Given the description of an element on the screen output the (x, y) to click on. 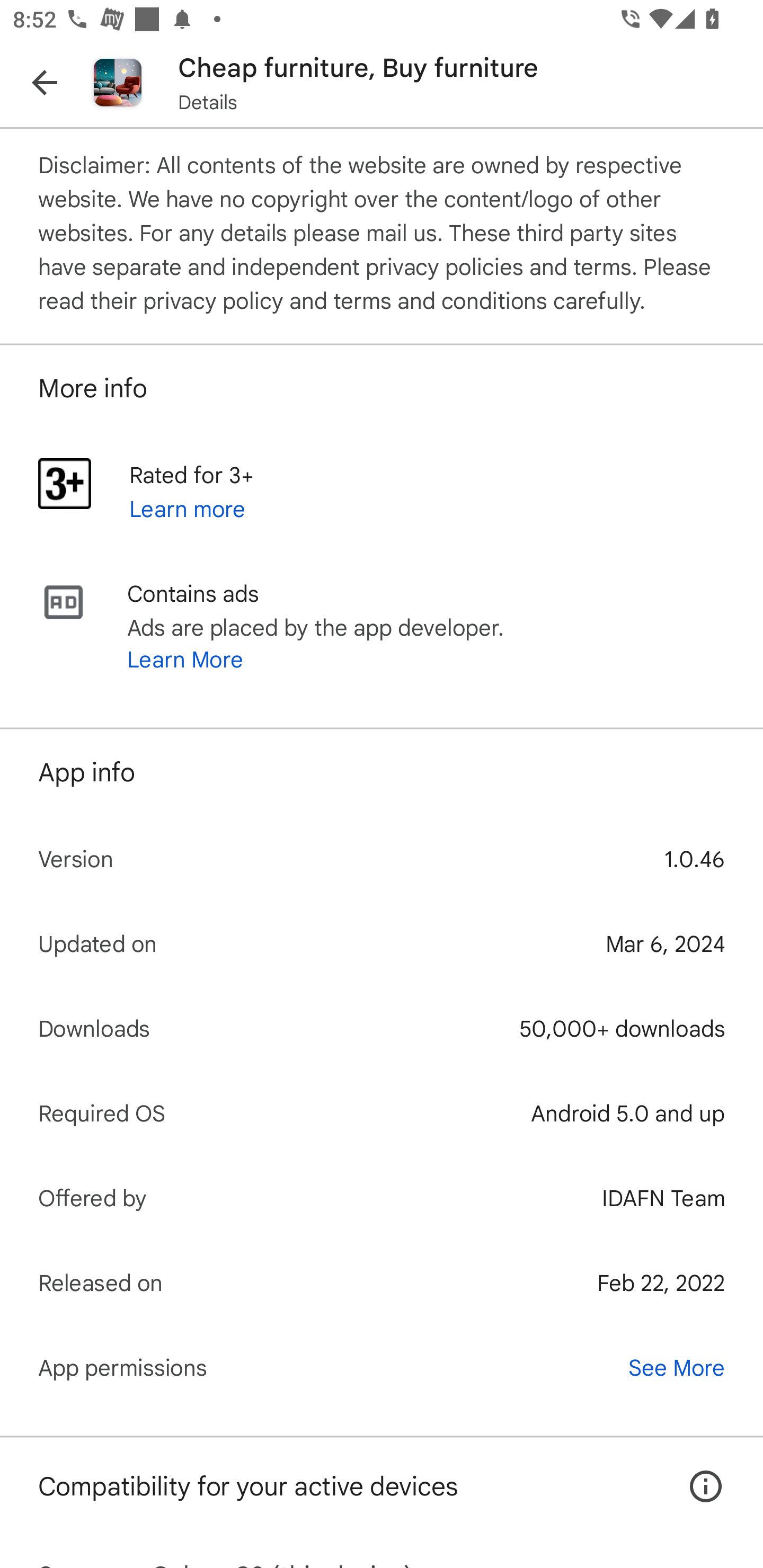
Navigate up (44, 82)
App permissions See More (381, 1366)
How this App works on your devices. (695, 1473)
